Given the description of an element on the screen output the (x, y) to click on. 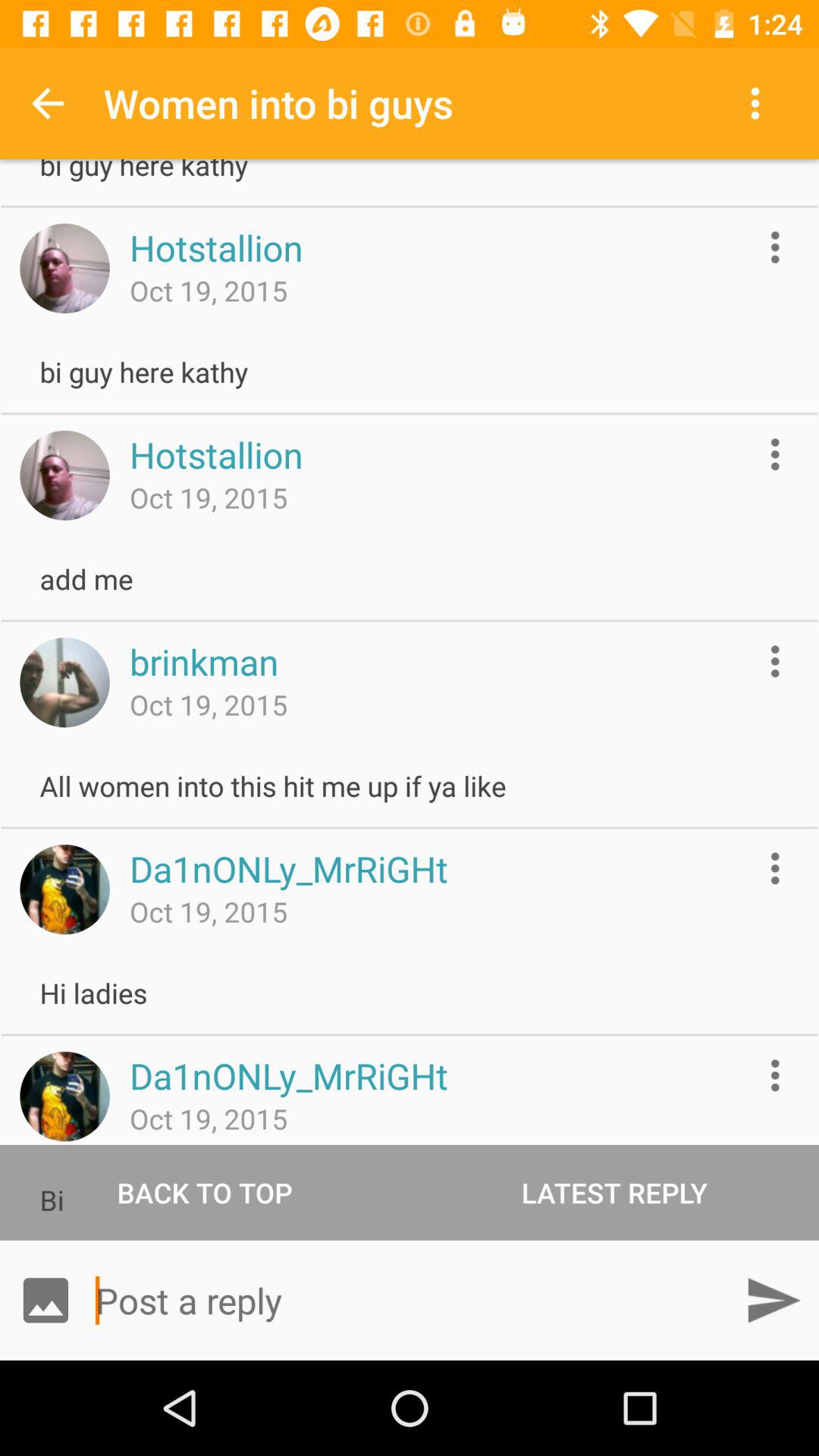
profile picture (64, 475)
